Given the description of an element on the screen output the (x, y) to click on. 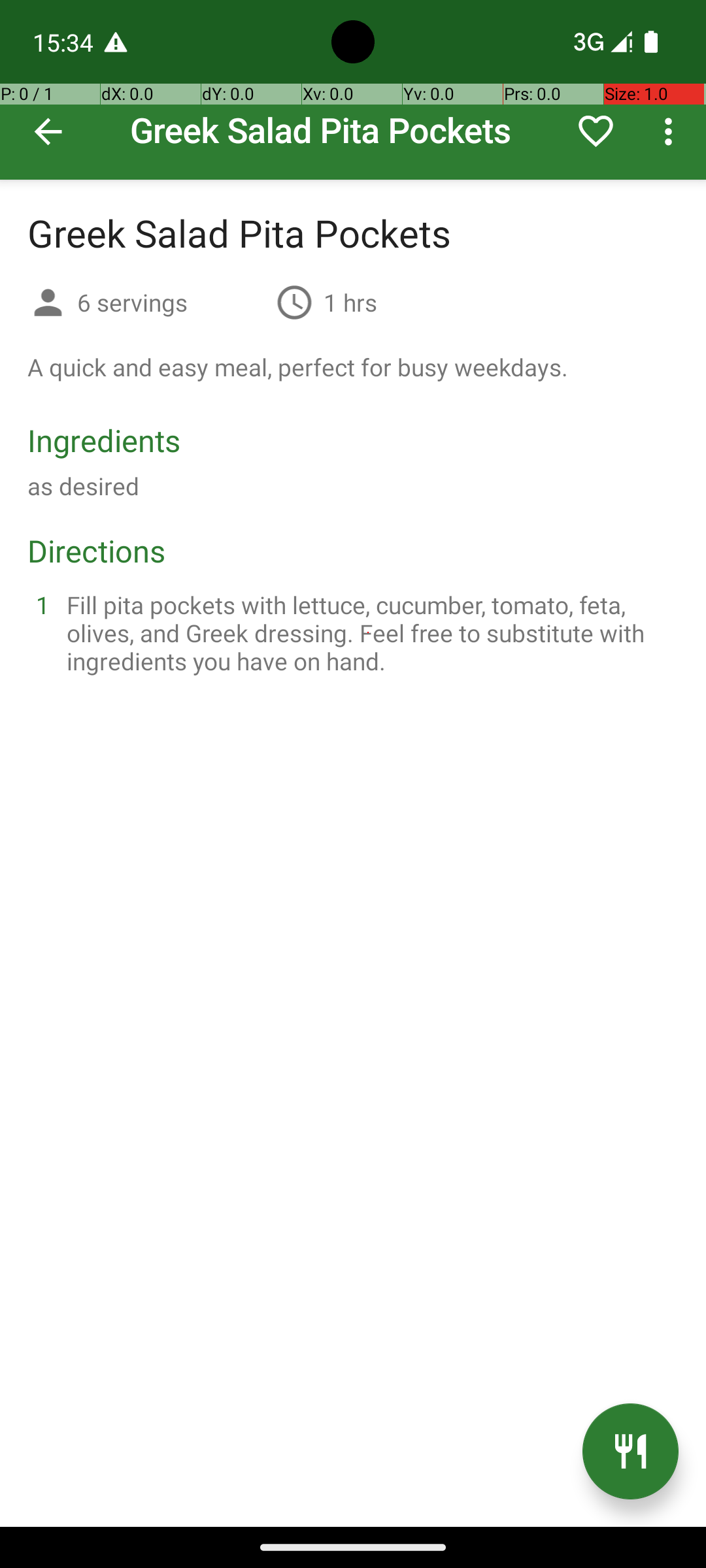
Greek Salad Pita Pockets Element type: android.widget.FrameLayout (353, 89)
6 servings Element type: android.widget.TextView (170, 301)
1 hrs Element type: android.widget.TextView (350, 301)
as desired Element type: android.widget.TextView (83, 485)
Fill pita pockets with lettuce, cucumber, tomato, feta, olives, and Greek dressing. Feel free to substitute with ingredients you have on hand. Element type: android.widget.TextView (368, 632)
